Given the description of an element on the screen output the (x, y) to click on. 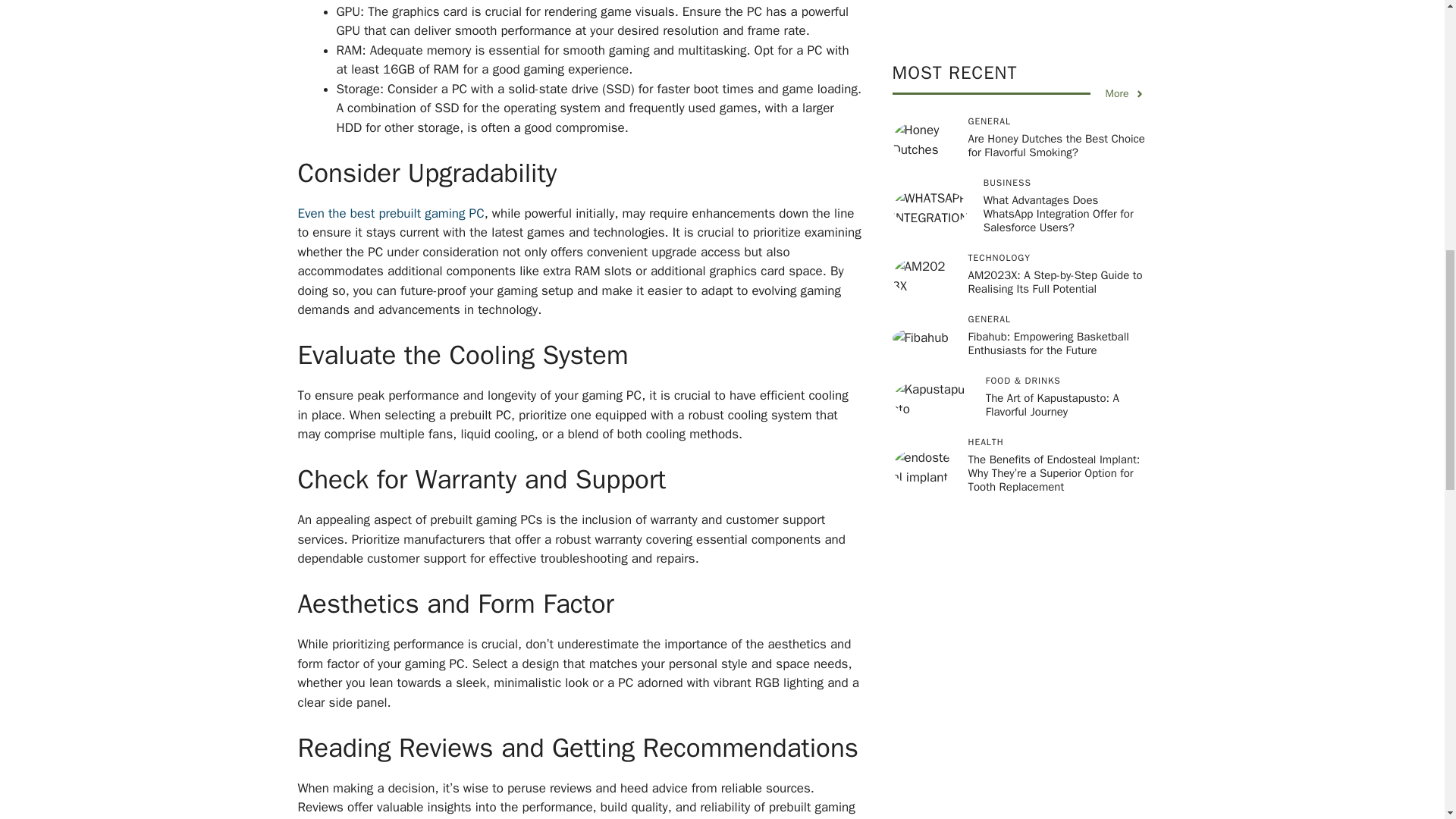
Even the best prebuilt gaming PC (390, 213)
